Given the description of an element on the screen output the (x, y) to click on. 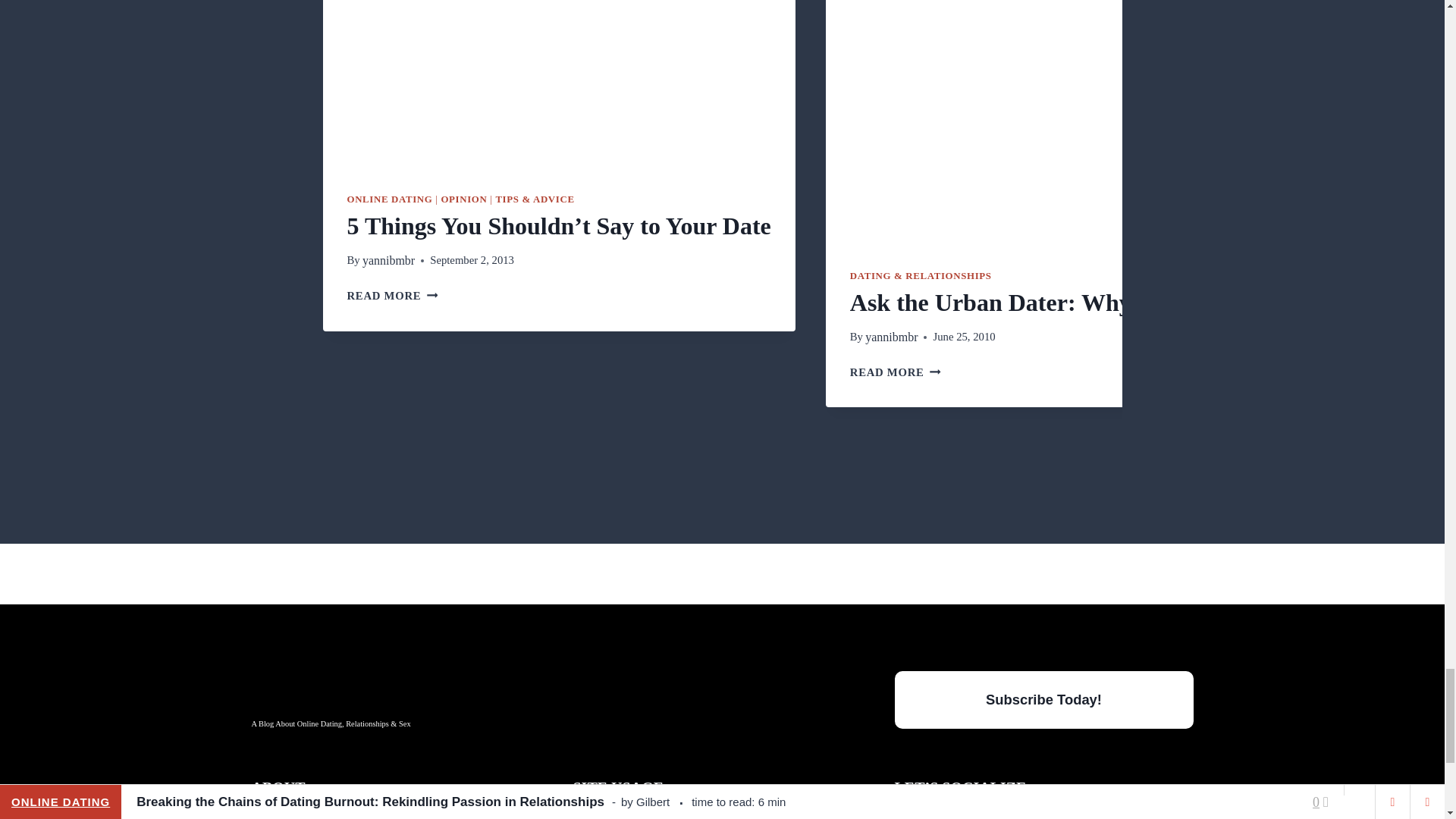
Urban Dater on Twitter (1044, 812)
